Given the description of an element on the screen output the (x, y) to click on. 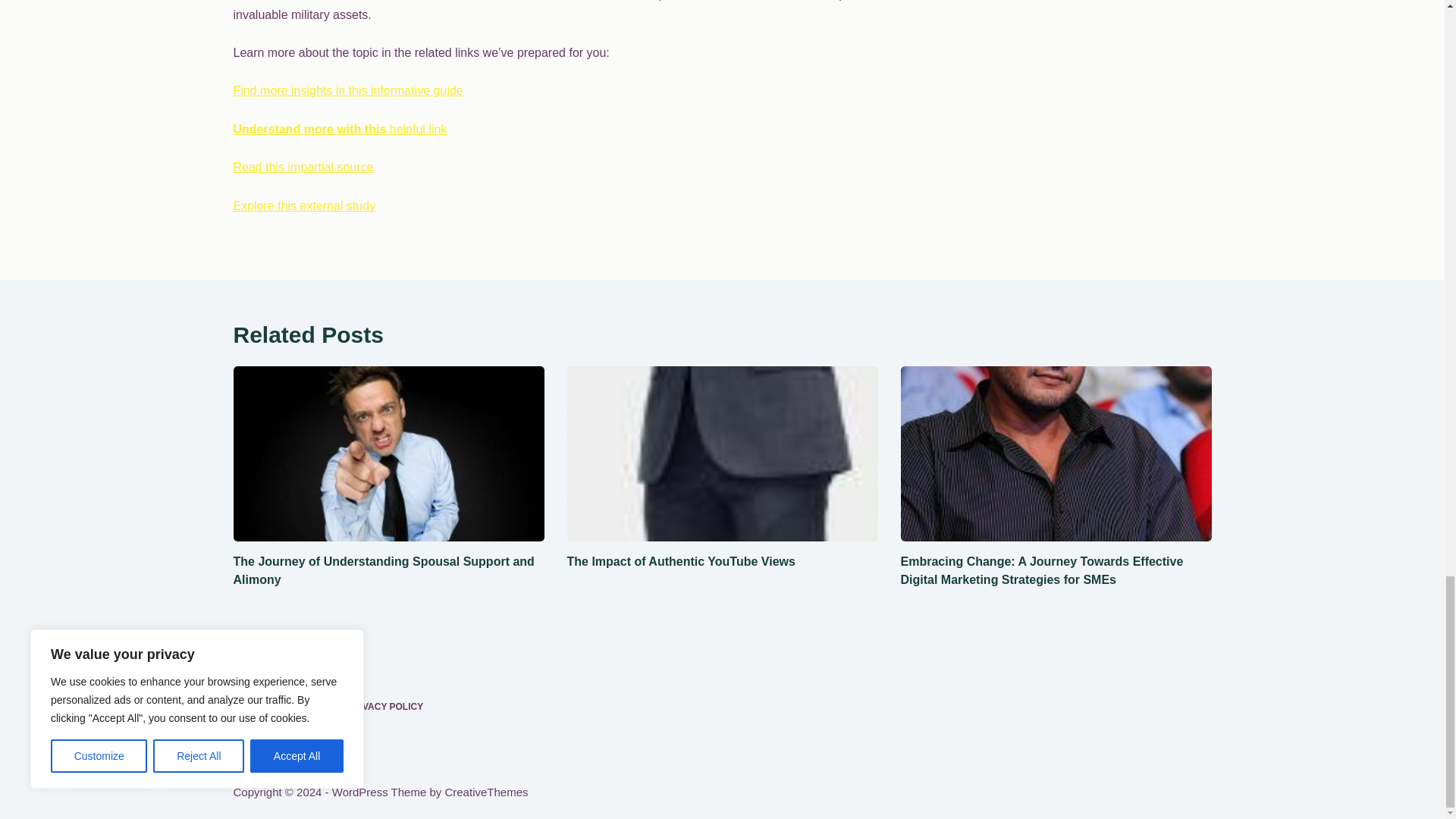
Find more insights in this informative guide (347, 90)
Understand more with this helpful link (339, 128)
Explore this external study (303, 205)
Read this impartial source (303, 166)
